Given the description of an element on the screen output the (x, y) to click on. 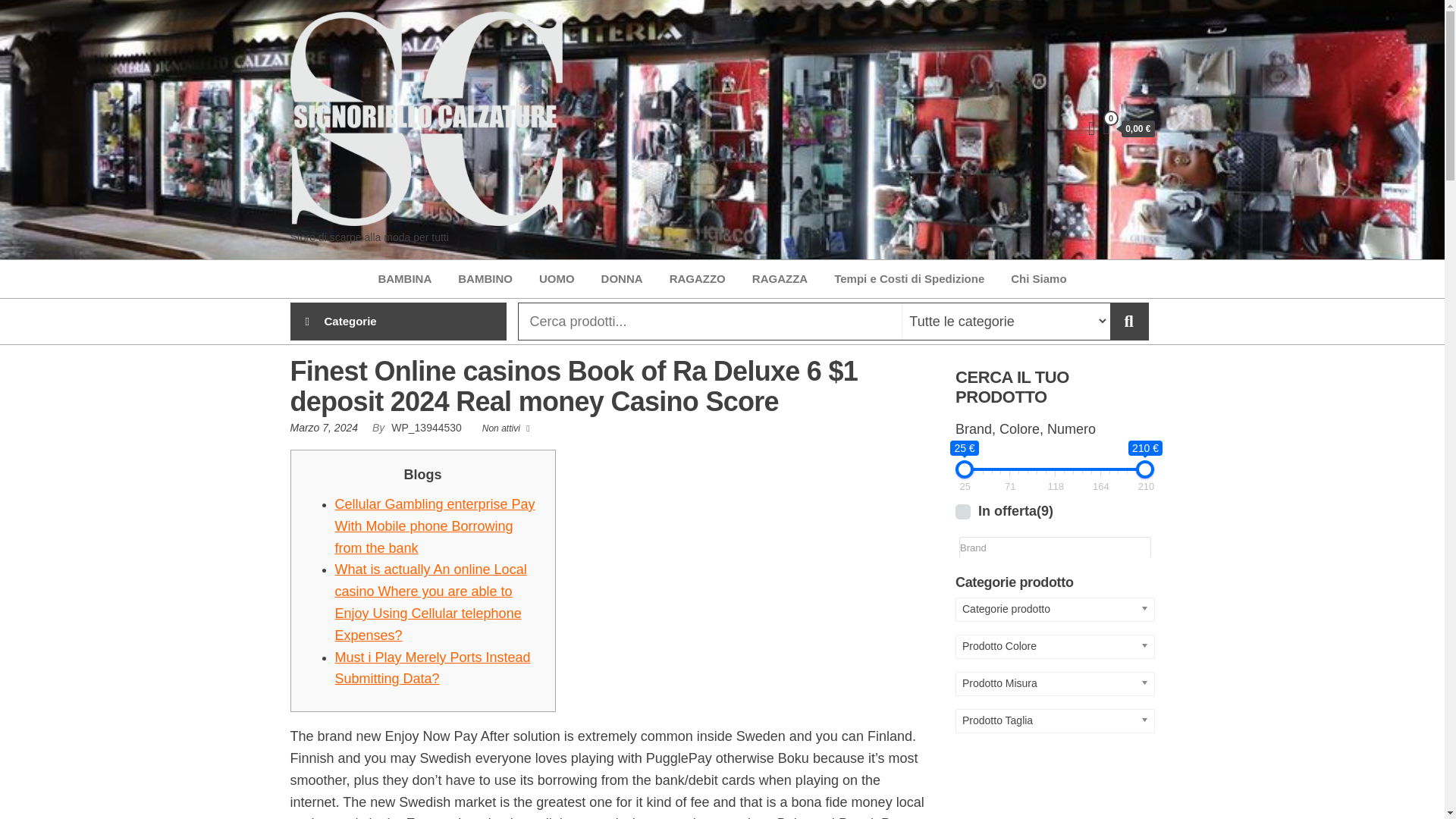
BAMBINO (485, 279)
DONNA (621, 279)
UOMO (556, 279)
RAGAZZA (779, 279)
Carrello (1128, 129)
RAGAZZO (697, 279)
Categorie (397, 321)
BAMBINA (404, 279)
BAMBINO (485, 279)
DONNA (621, 279)
